Given the description of an element on the screen output the (x, y) to click on. 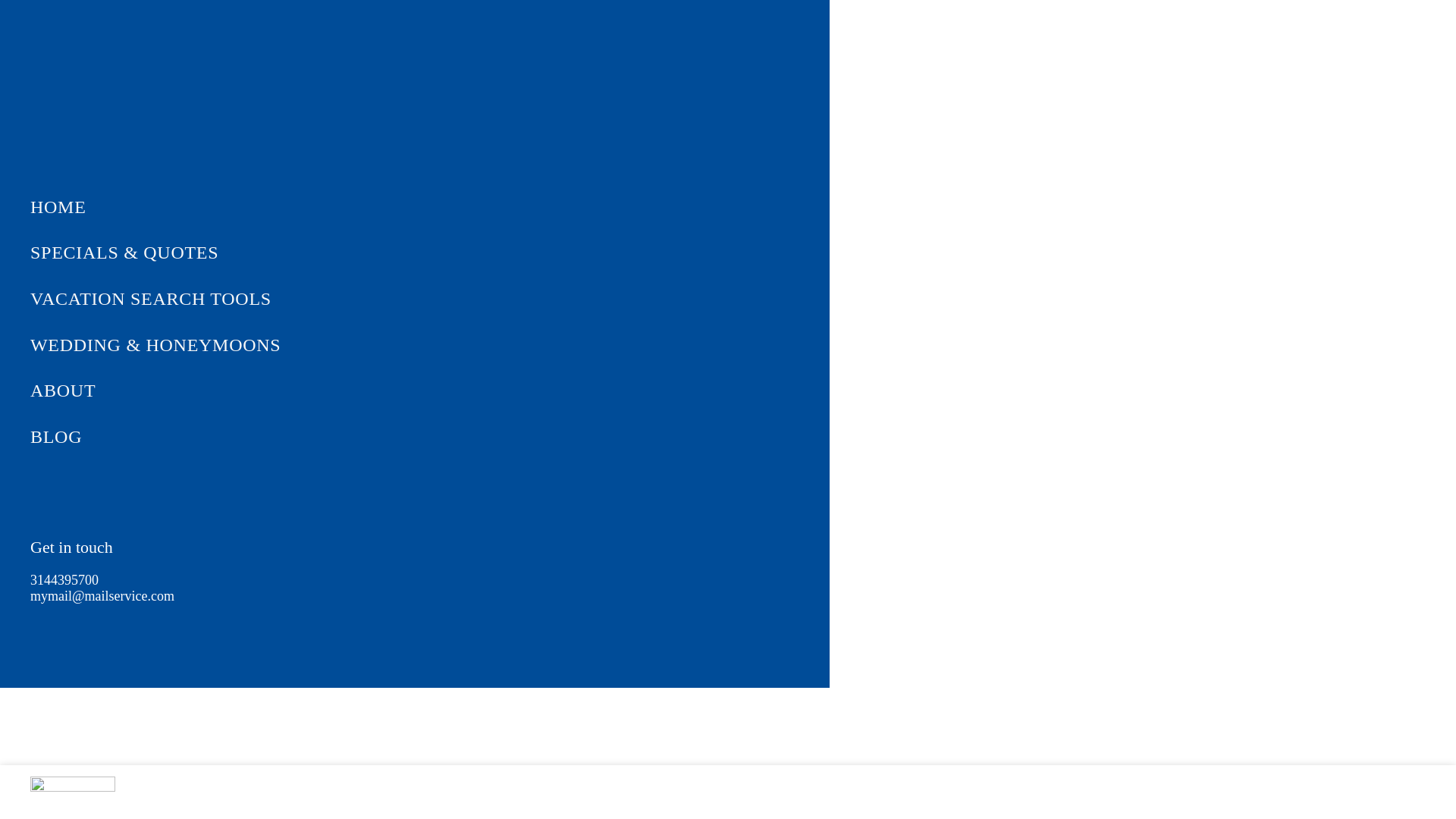
ABOUT (445, 390)
BLOG (445, 437)
HOME (445, 207)
VACATION SEARCH TOOLS (445, 299)
